Given the description of an element on the screen output the (x, y) to click on. 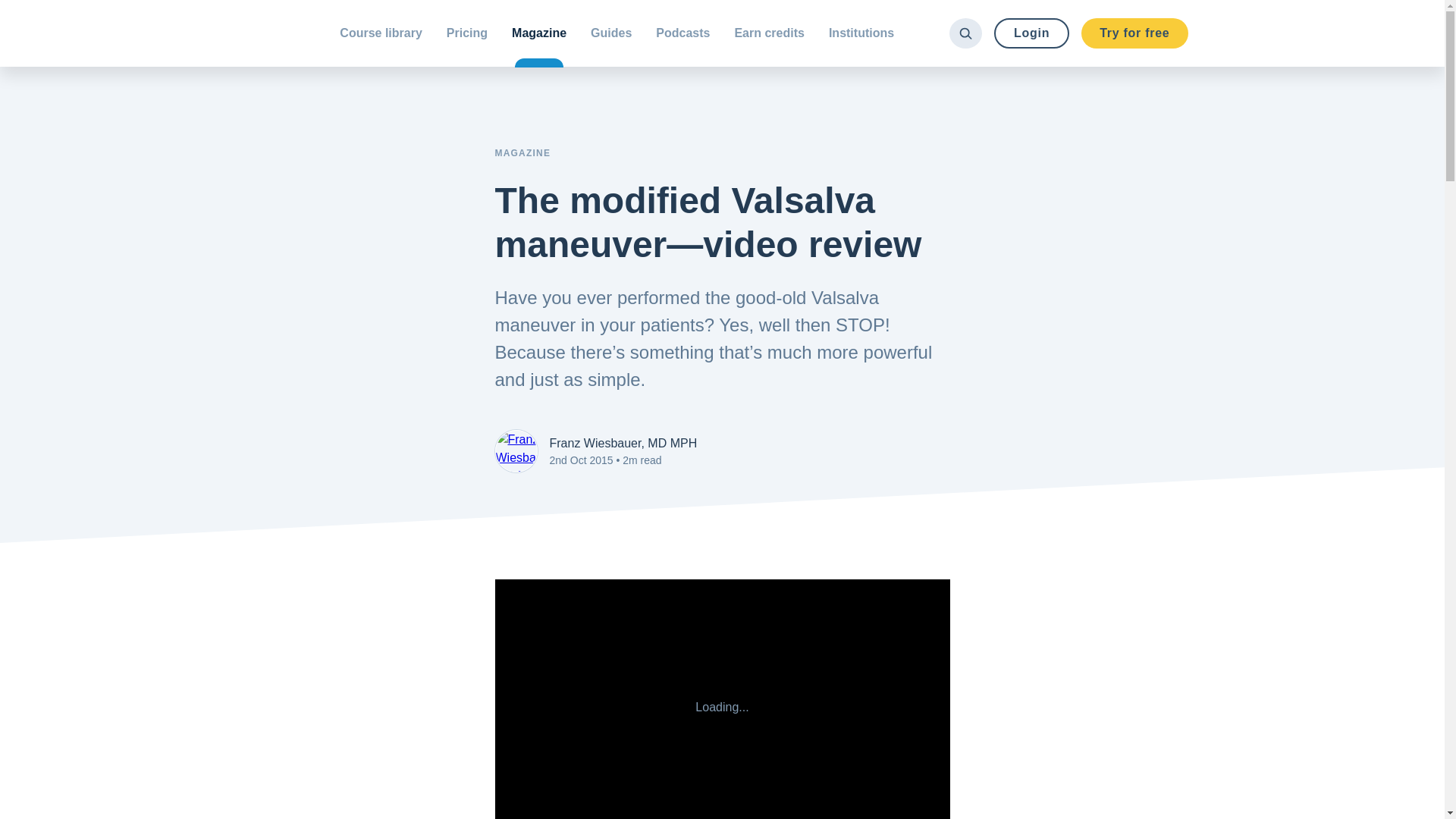
Pricing (466, 33)
Login (1031, 33)
Guides (610, 33)
Course library (380, 33)
Podcasts (682, 33)
MAGAZINE (522, 153)
 Medmastery (269, 33)
Try for free (1134, 33)
Magazine (538, 33)
Earn credits (768, 33)
Franz Wiesbauer, MD MPH (622, 442)
Institutions (860, 33)
